Given the description of an element on the screen output the (x, y) to click on. 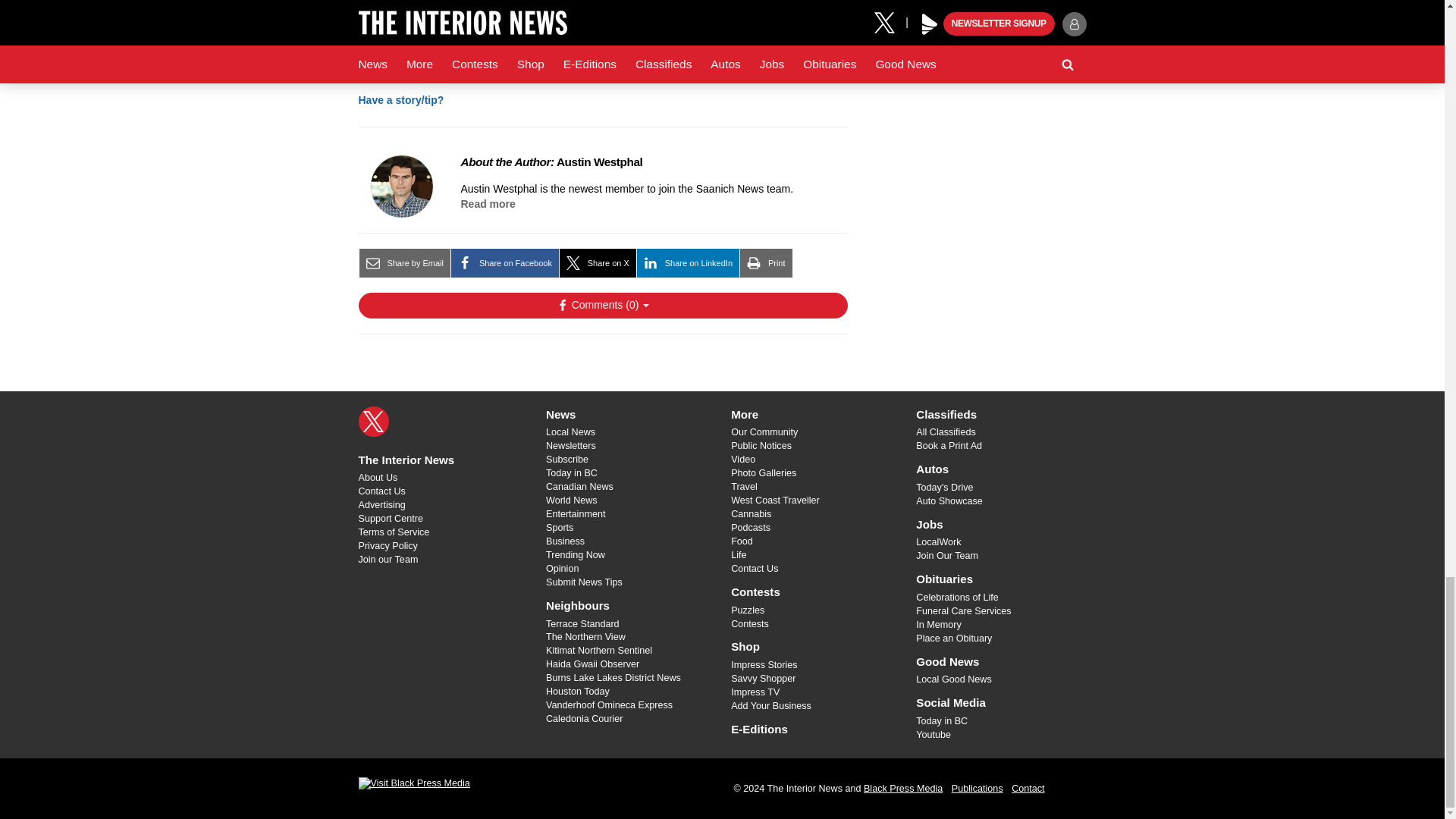
Show Comments (602, 305)
X (373, 421)
